Given the description of an element on the screen output the (x, y) to click on. 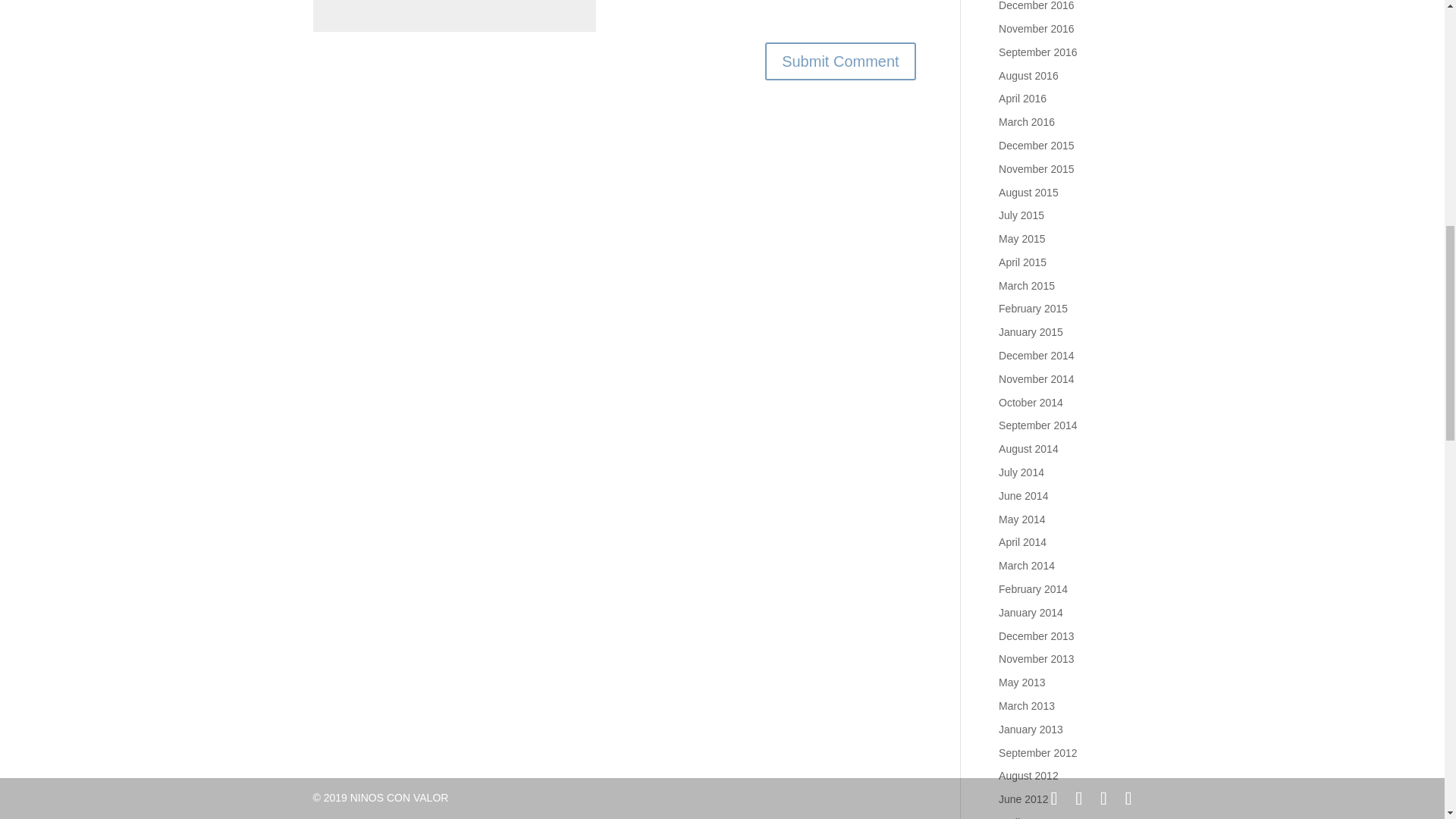
Submit Comment (840, 61)
Submit Comment (840, 61)
